Given the description of an element on the screen output the (x, y) to click on. 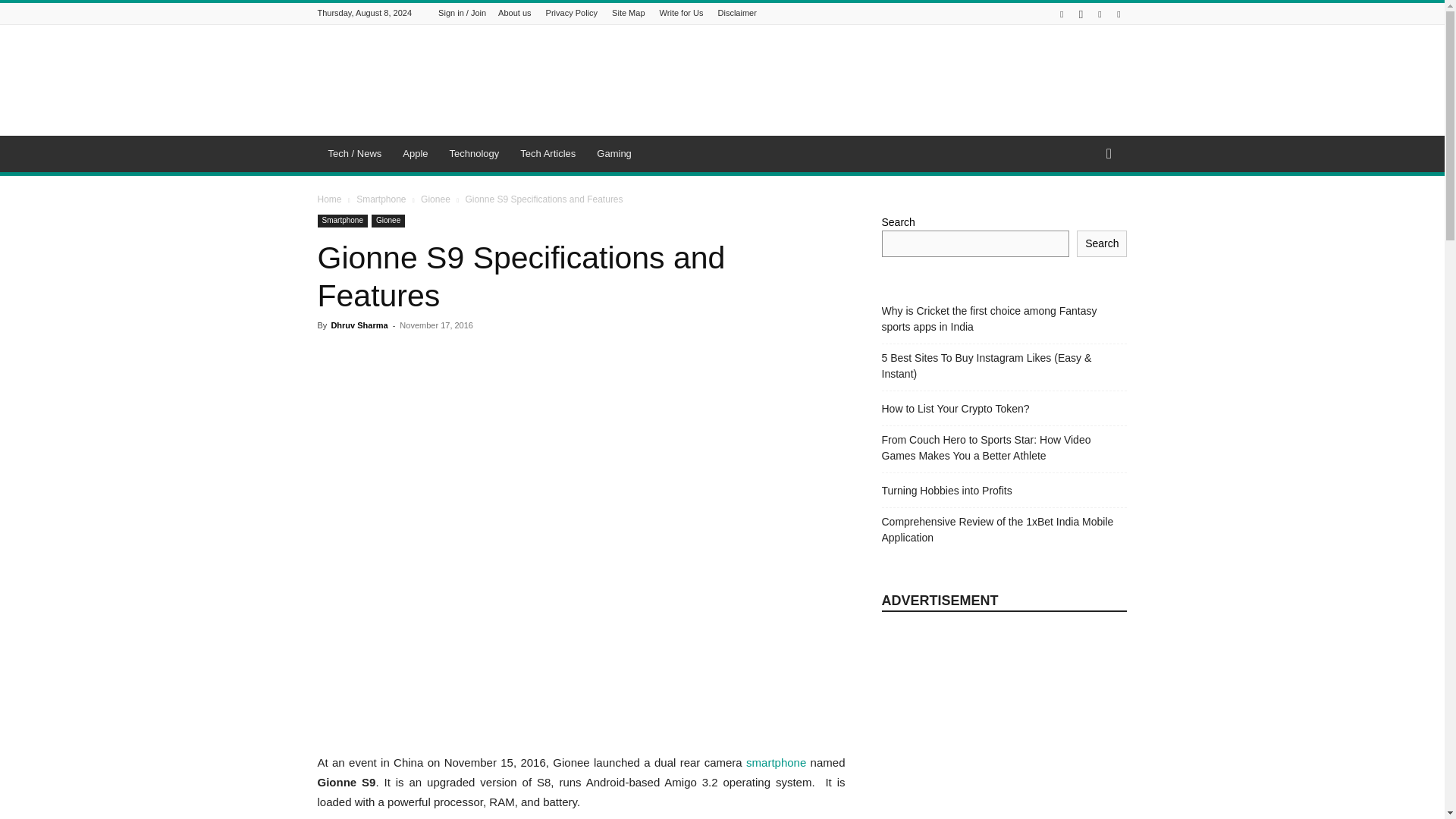
Write for Us (681, 12)
Site Map (628, 12)
Privacy Policy (571, 12)
About us (514, 12)
Disclaimer (737, 12)
Apple (414, 153)
